Given the description of an element on the screen output the (x, y) to click on. 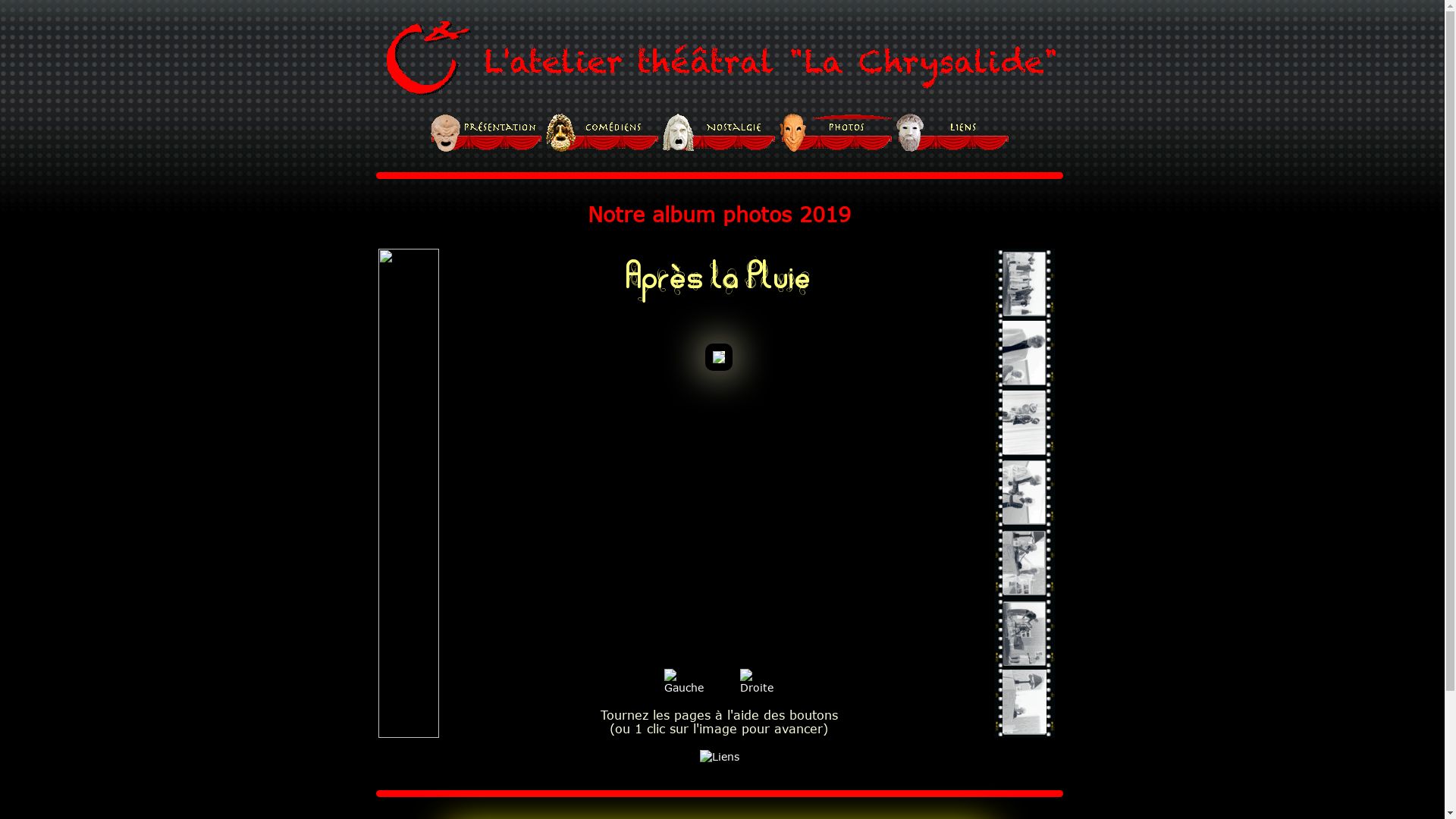
Accueil  Element type: hover (485, 132)
Liens Element type: hover (718, 755)
Liens Element type: hover (953, 132)
Droite Element type: hover (756, 680)
Photos Element type: hover (836, 132)
Gauche Element type: hover (683, 680)
